Given the description of an element on the screen output the (x, y) to click on. 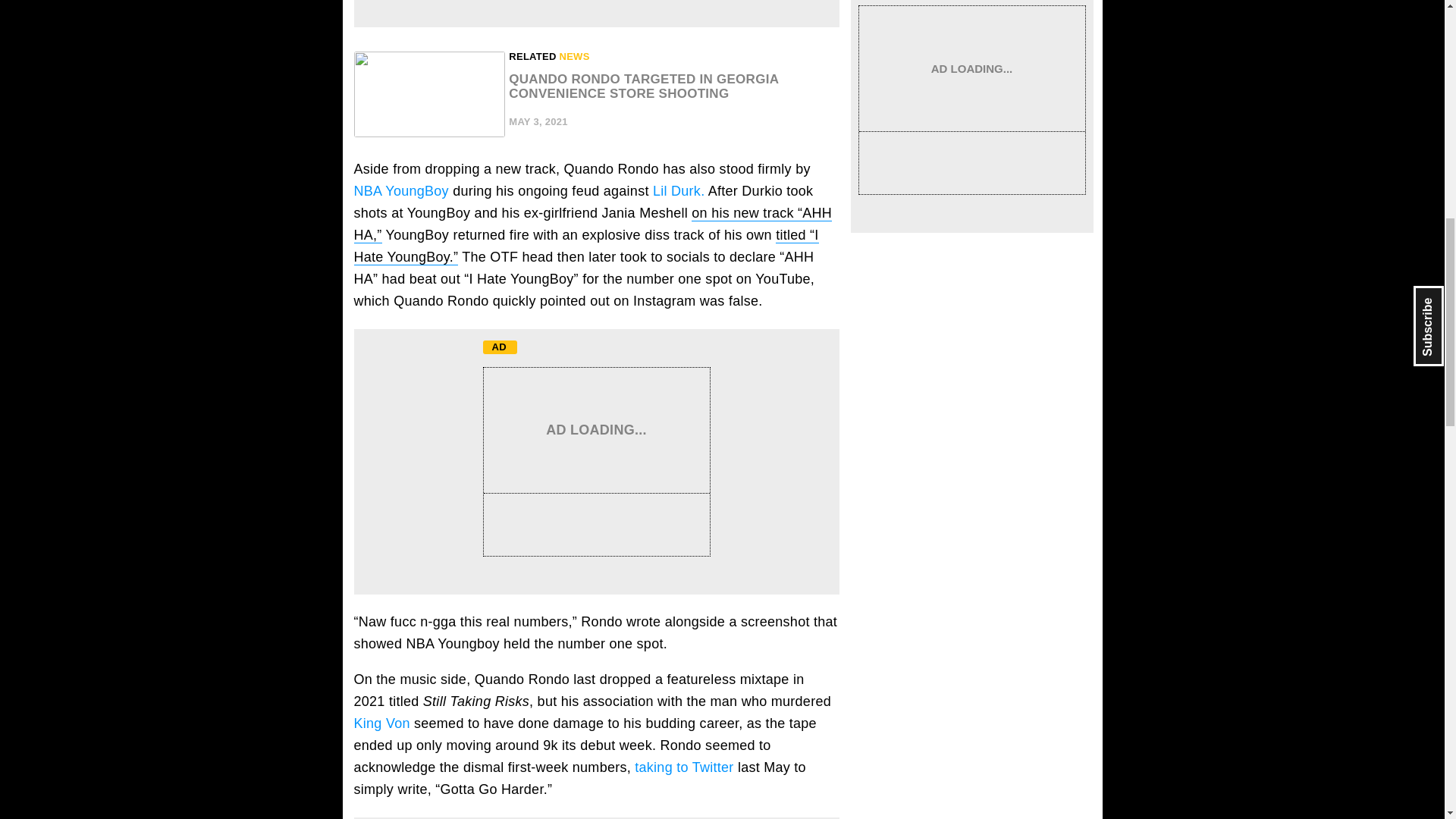
Lil Durk. (678, 191)
NBA YoungBoy (400, 191)
